Given the description of an element on the screen output the (x, y) to click on. 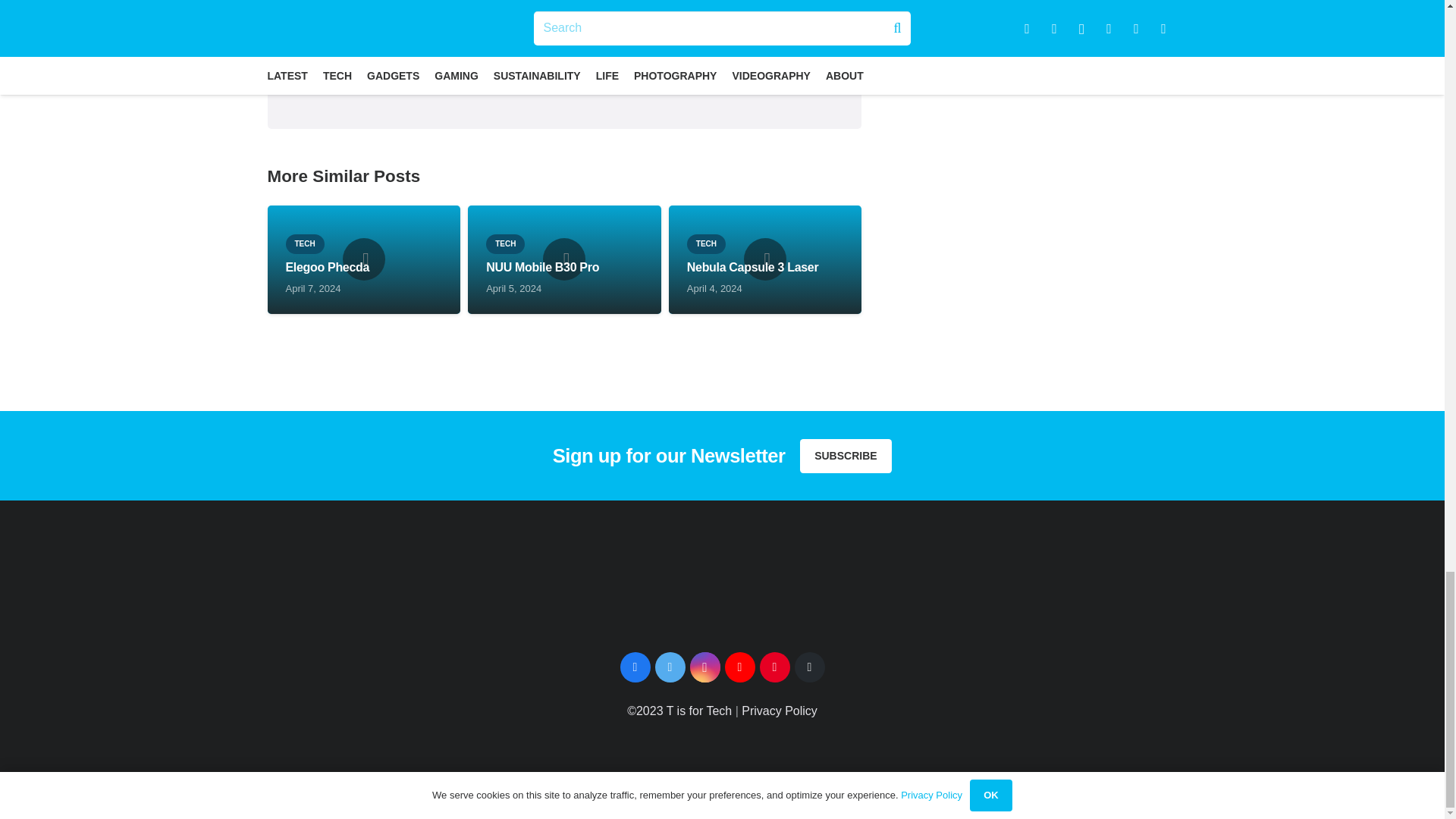
Andrew (624, 32)
